Given the description of an element on the screen output the (x, y) to click on. 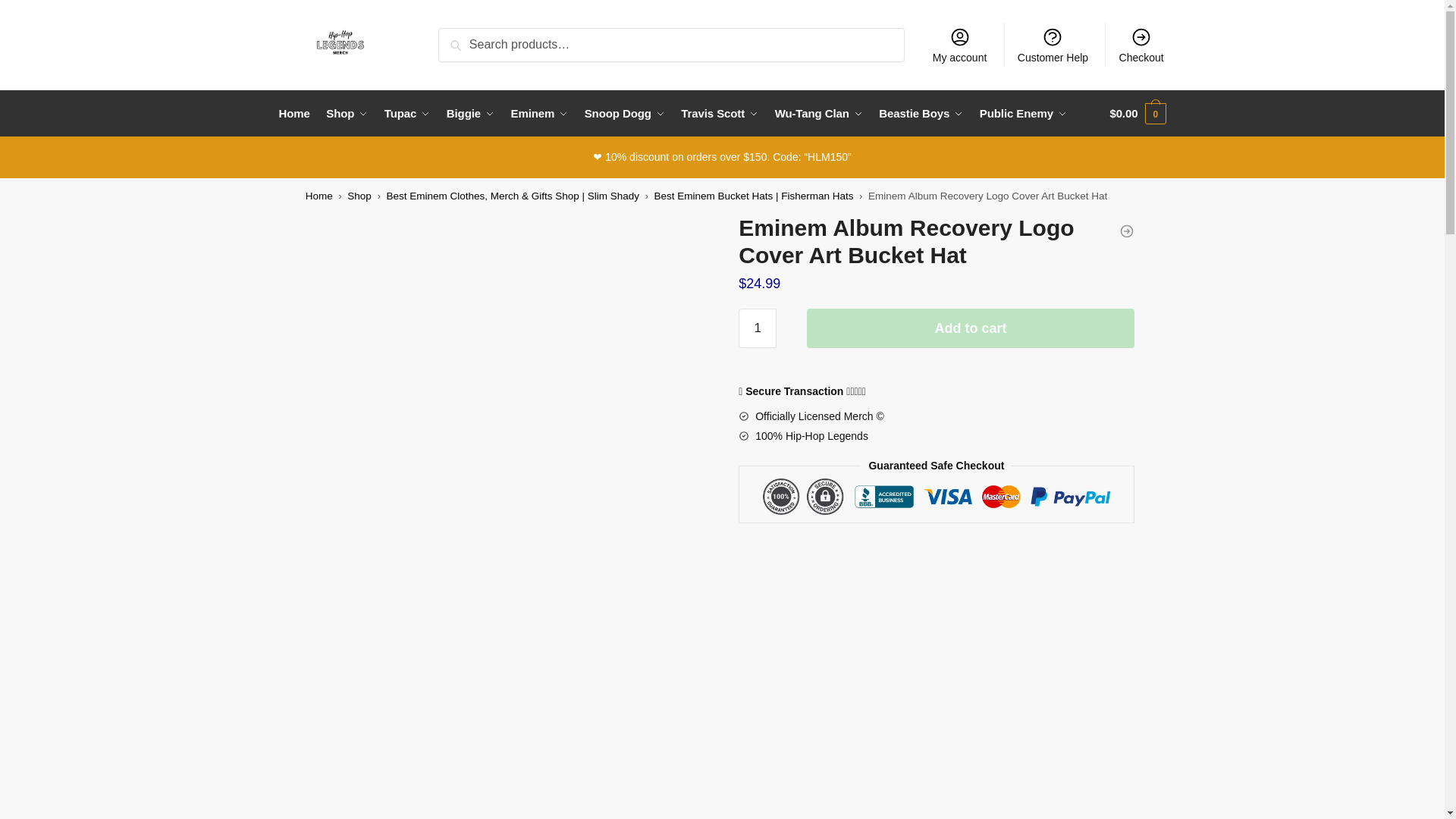
Customer Help (1053, 44)
Checkout (1141, 44)
1 (757, 328)
My account (959, 44)
Shop (347, 113)
Search (462, 38)
Biggie (470, 113)
Tupac (407, 113)
View your shopping cart (1137, 113)
